Given the description of an element on the screen output the (x, y) to click on. 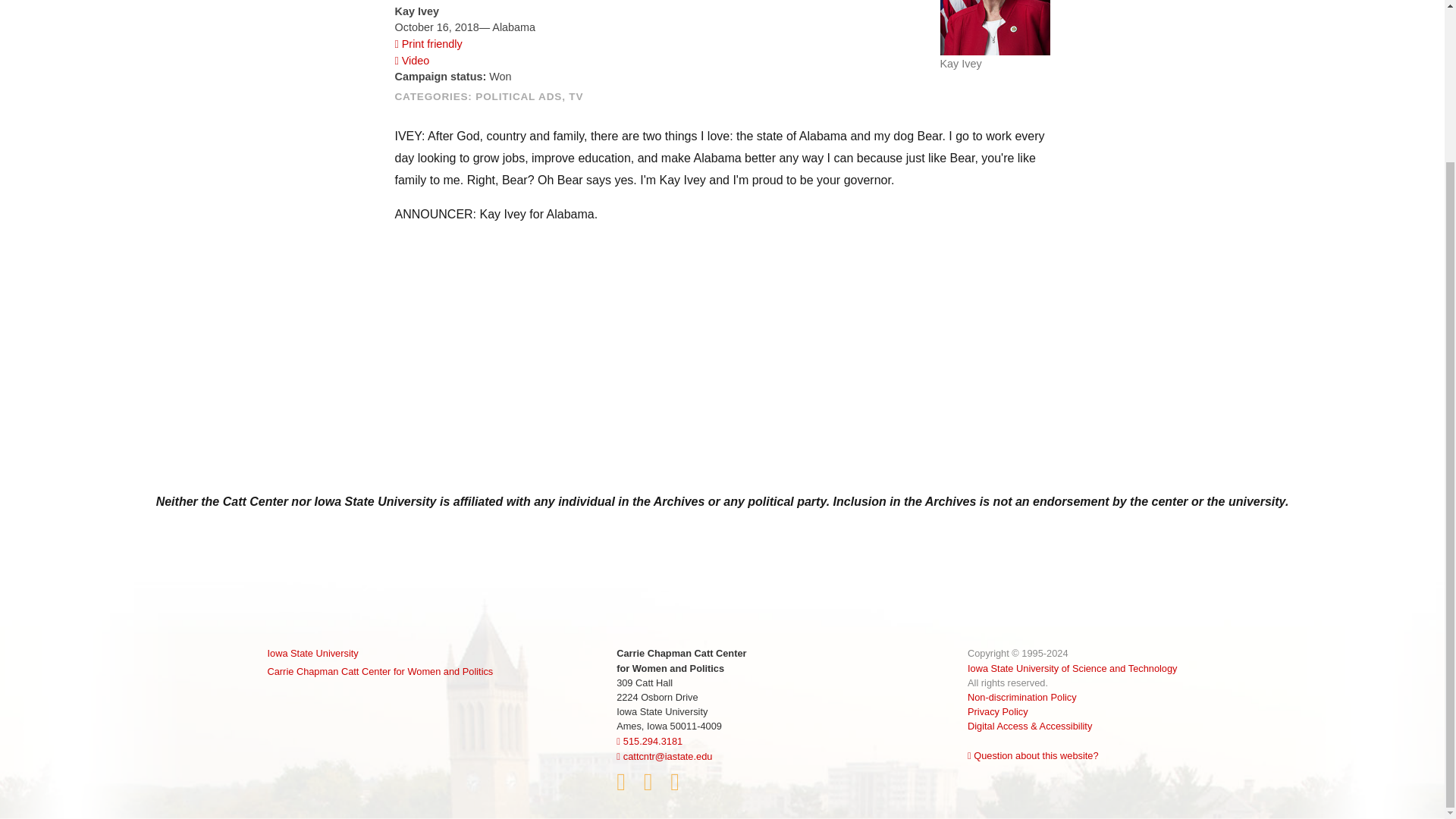
Video (411, 60)
POLITICAL ADS (519, 96)
515.294.3181 (648, 740)
Kay Ivey (994, 35)
Kay Ivey (994, 27)
Iowa State University of Science and Technology (1072, 668)
TV (576, 96)
Iowa State University (379, 653)
Carrie Chapman Catt Center for Women and Politics (379, 671)
Non-discrimination Policy (1022, 696)
Print friendly (427, 43)
Privacy Policy (997, 711)
Question about this website? (1033, 755)
